Given the description of an element on the screen output the (x, y) to click on. 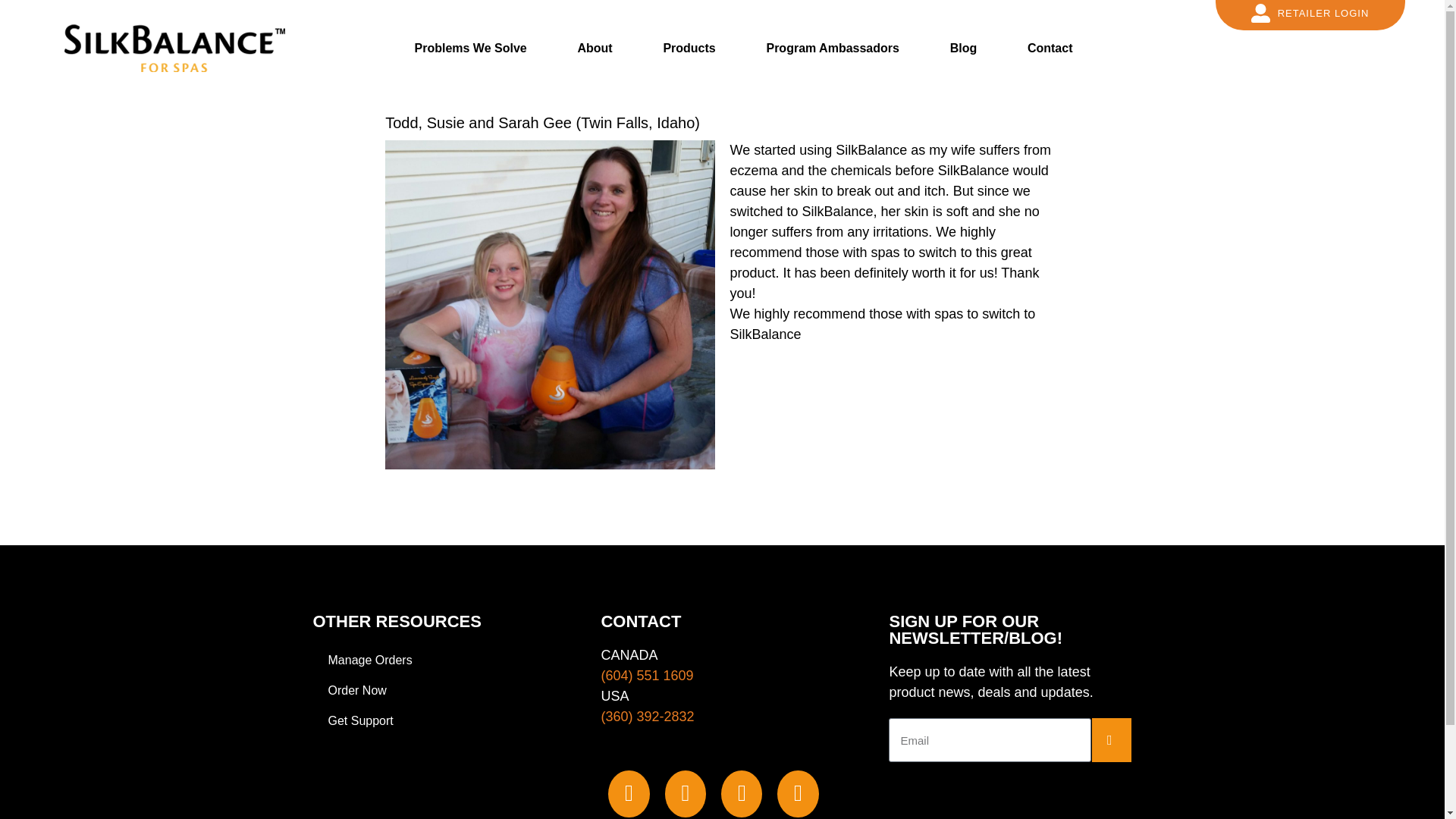
Program Ambassadors (831, 47)
Get Support (433, 720)
About (593, 47)
Contact (1050, 47)
Order Now (433, 690)
Products (688, 47)
Problems We Solve (469, 47)
Blog (963, 47)
Manage Orders (433, 660)
RETAILER LOGIN (1310, 13)
